Given the description of an element on the screen output the (x, y) to click on. 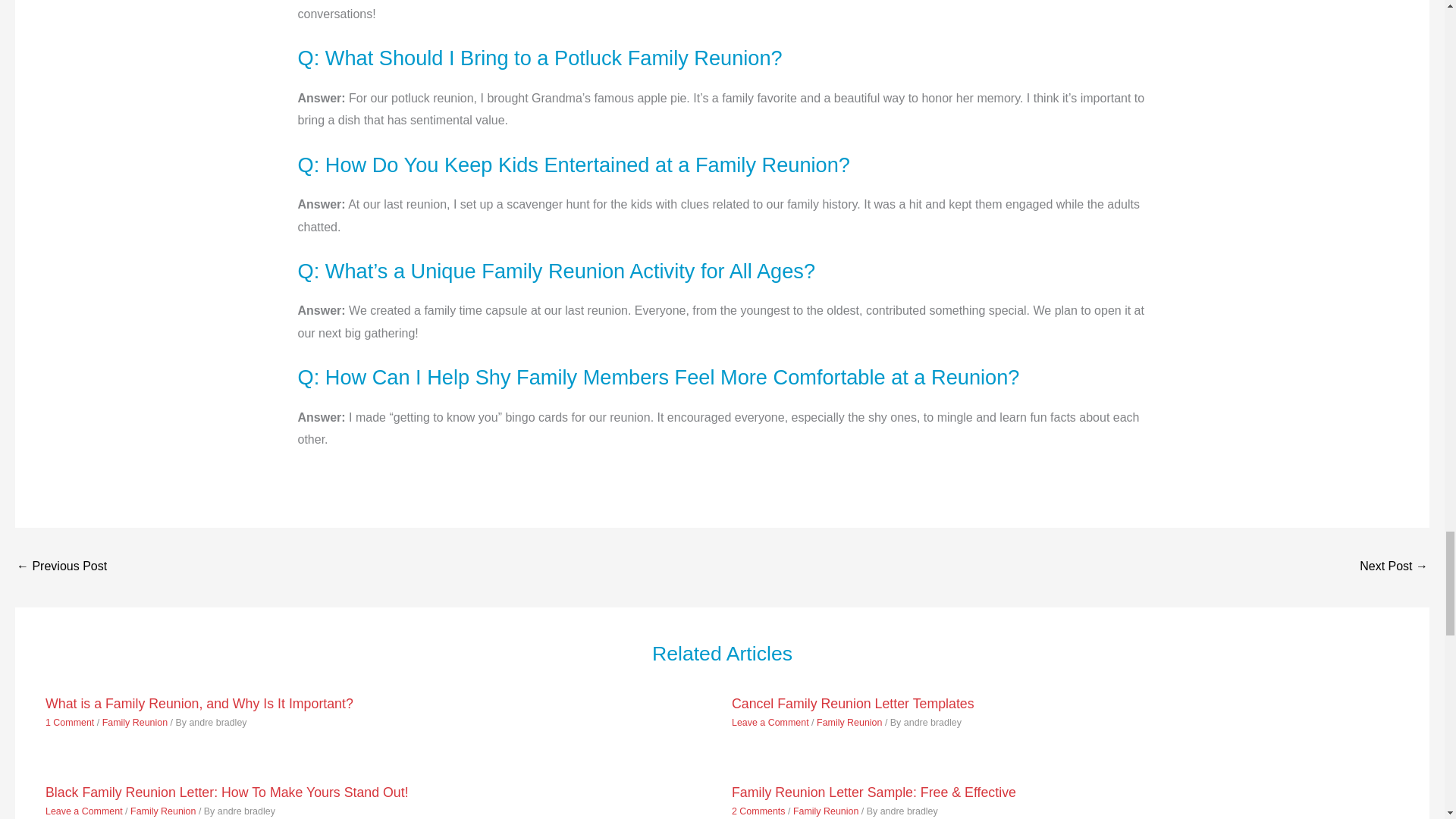
Family Reunion (134, 722)
Free Hotel Reservation Email Sample (61, 567)
2 Comments (759, 810)
View all posts by andre bradley (217, 722)
Cancel Family Reunion Letter Templates (853, 703)
View all posts by andre bradley (245, 810)
Family Reunion (849, 722)
View all posts by andre bradley (932, 722)
andre bradley (932, 722)
Family Reunion (163, 810)
